Given the description of an element on the screen output the (x, y) to click on. 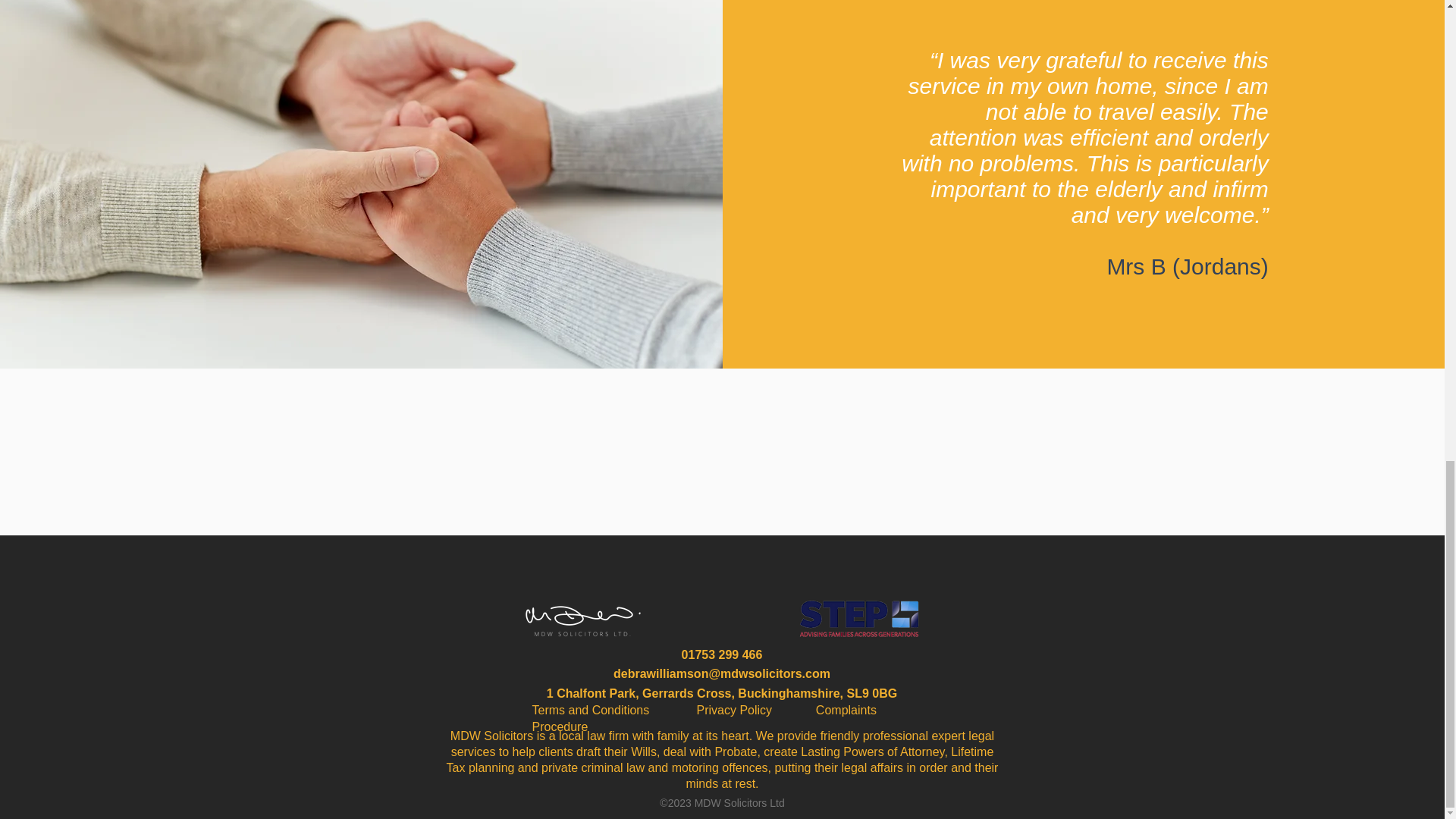
01753 299 466 (721, 654)
Terms and Conditions               (614, 709)
1 Chalfont Park, Gerrards Cross, Buckinghamshire, SL9 0BG (721, 693)
Complaints Procedure (704, 718)
Privacy Policy              (755, 709)
